Given the description of an element on the screen output the (x, y) to click on. 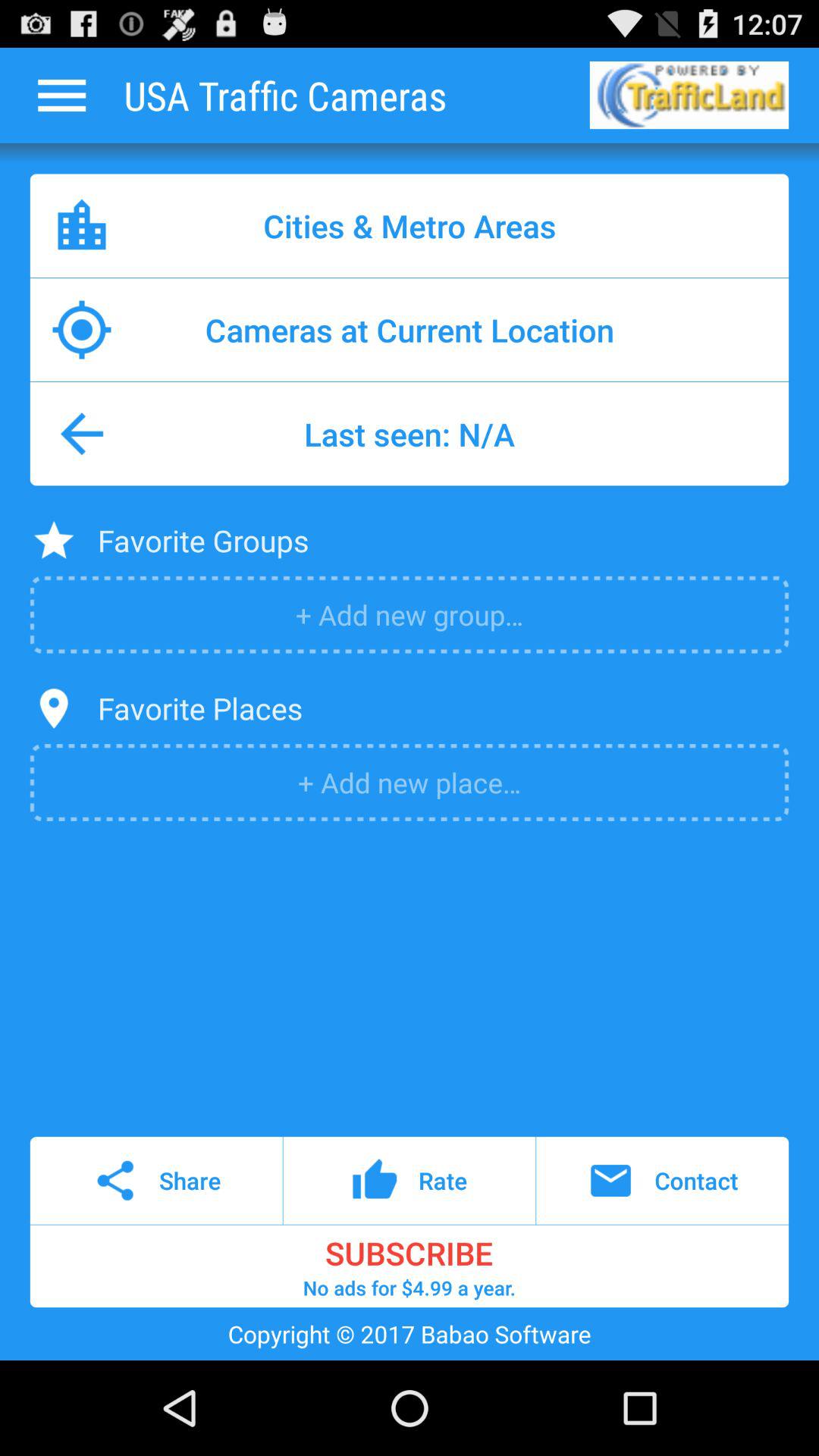
swipe to the favorite places (199, 708)
